Given the description of an element on the screen output the (x, y) to click on. 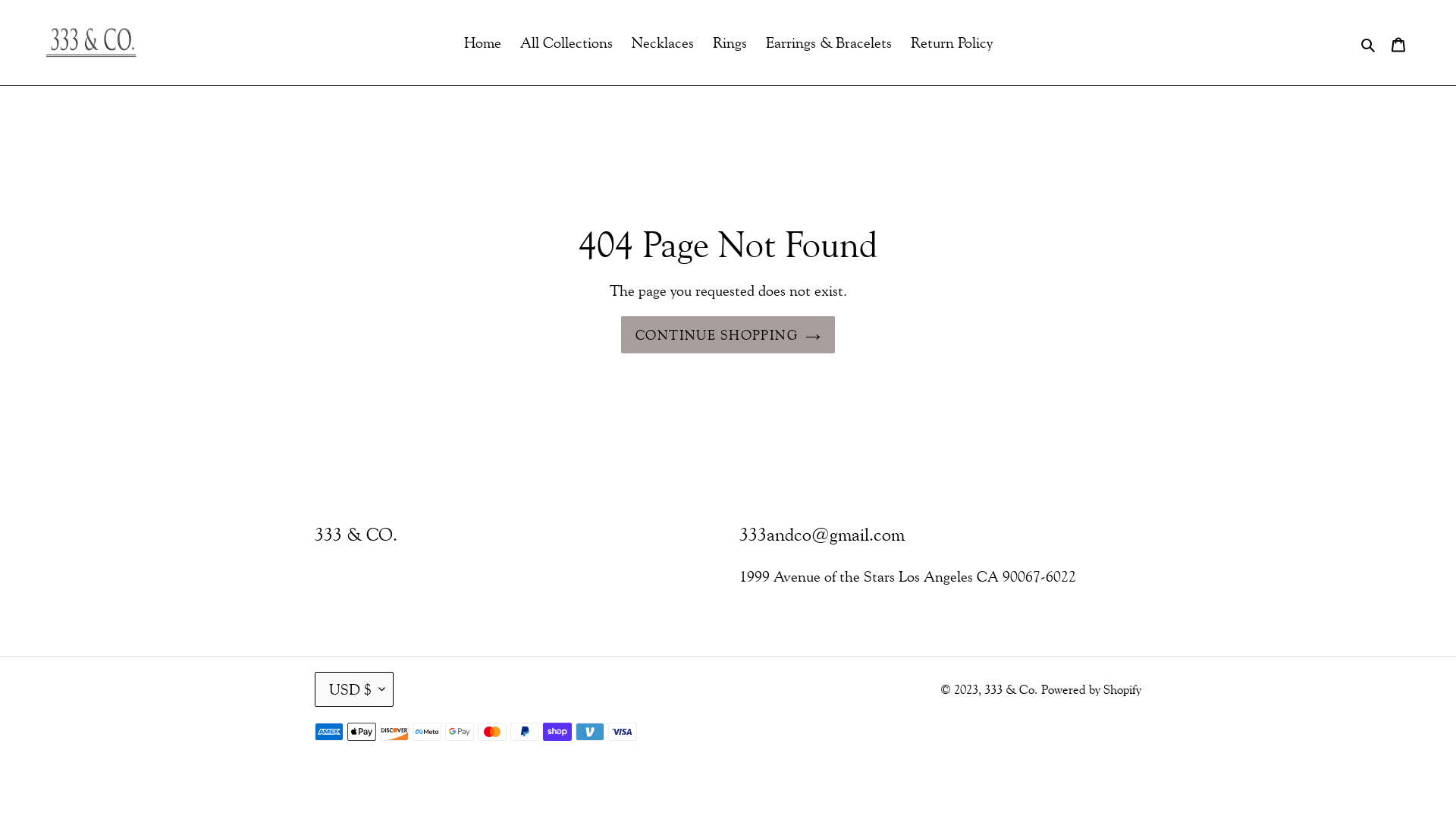
Search Element type: text (1368, 42)
Earrings & Bracelets Element type: text (828, 42)
Rings Element type: text (729, 42)
All Collections Element type: text (566, 42)
Cart Element type: text (1398, 42)
Necklaces Element type: text (661, 42)
Powered by Shopify Element type: text (1091, 688)
CONTINUE SHOPPING Element type: text (727, 334)
Home Element type: text (482, 42)
USD $ Element type: text (353, 688)
Return Policy Element type: text (950, 42)
333 & Co. Element type: text (1010, 688)
